Given the description of an element on the screen output the (x, y) to click on. 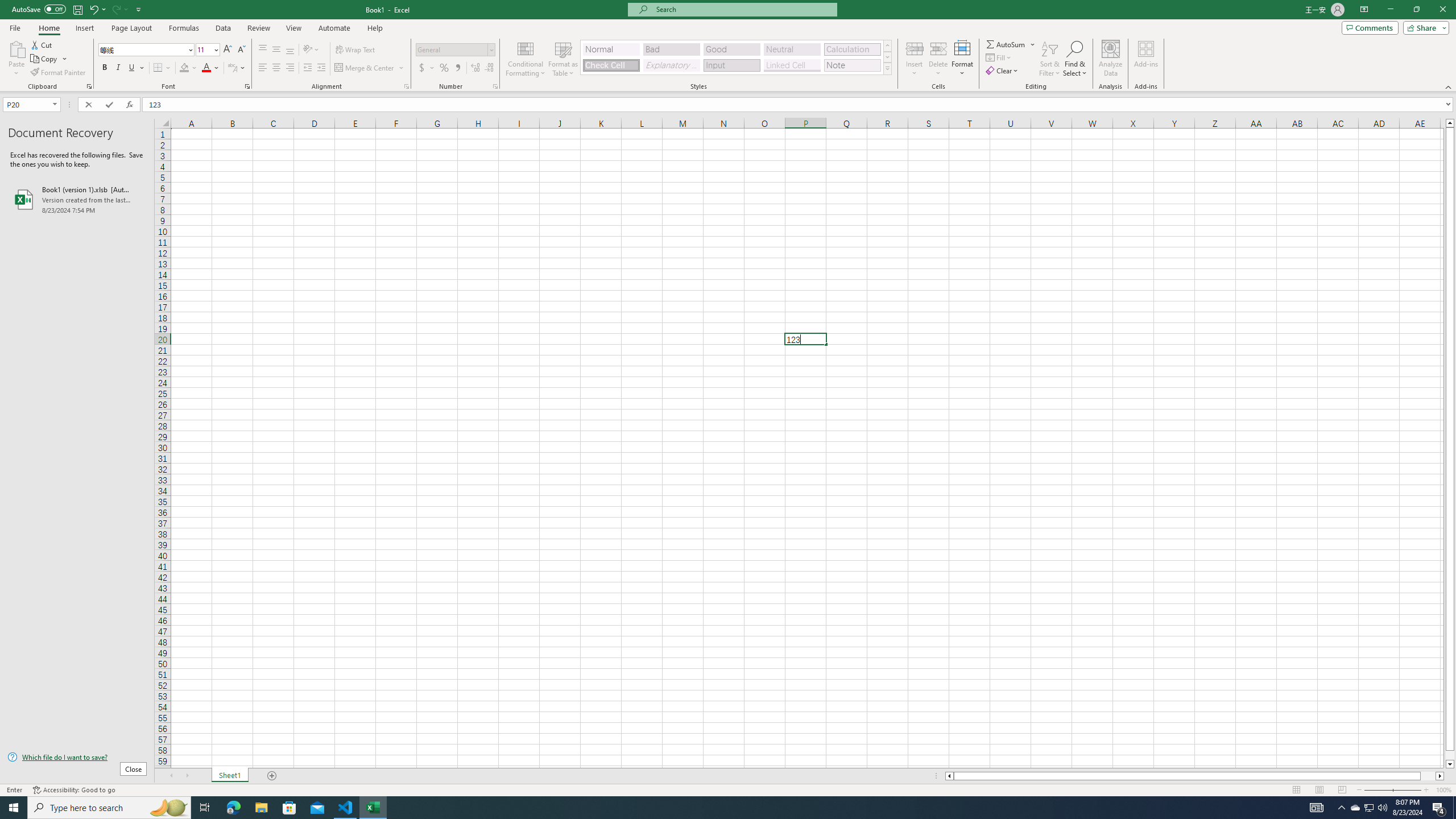
Accounting Number Format (426, 67)
Borders (162, 67)
Font Size (207, 49)
Paste (16, 48)
Bottom Align (290, 49)
Format Cell Number (494, 85)
Cut (42, 44)
Increase Indent (320, 67)
Copy (49, 58)
